Given the description of an element on the screen output the (x, y) to click on. 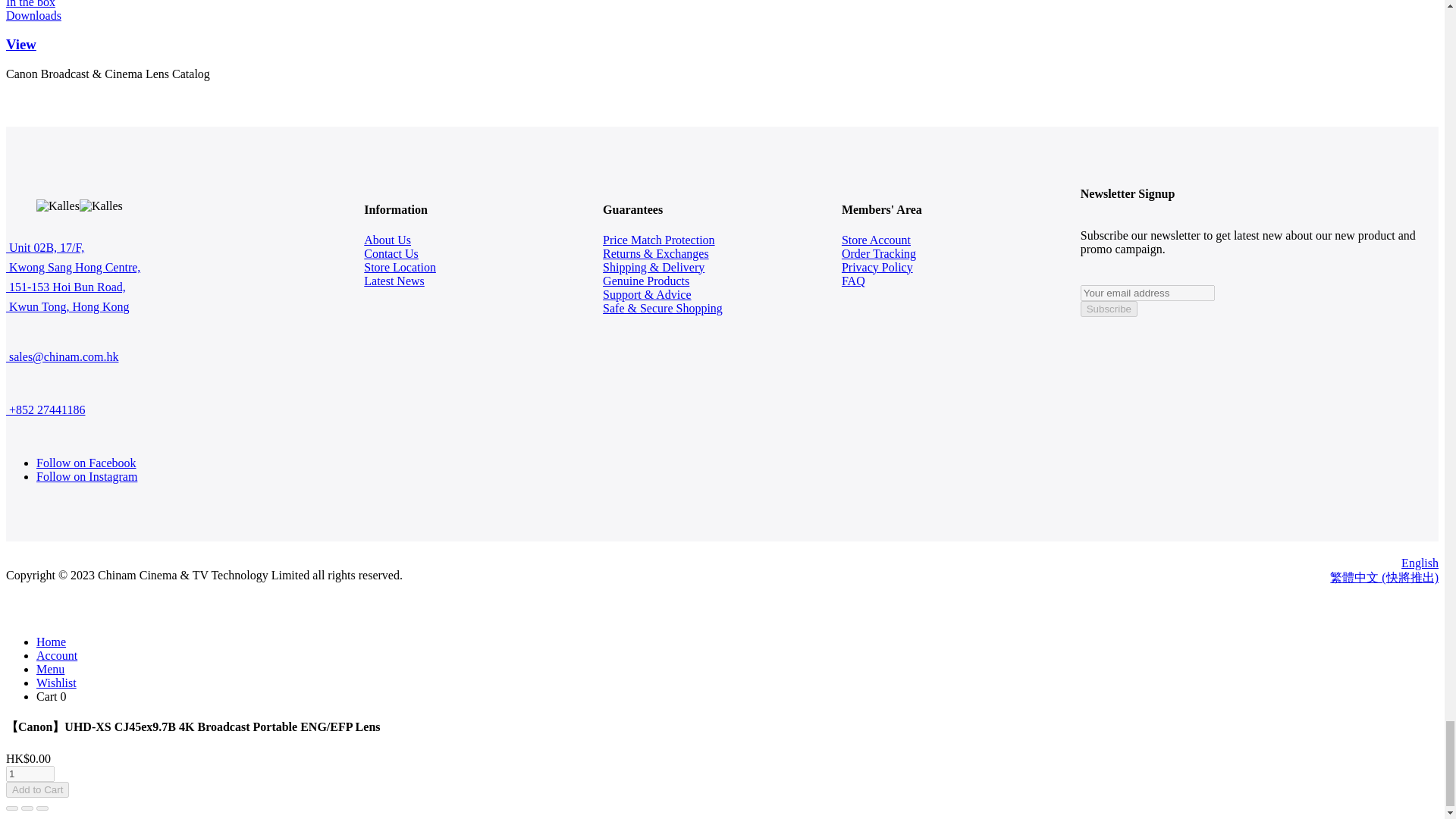
Toggle fullscreen (27, 807)
Kalles (58, 205)
1 (30, 773)
Kalles (101, 205)
